Given the description of an element on the screen output the (x, y) to click on. 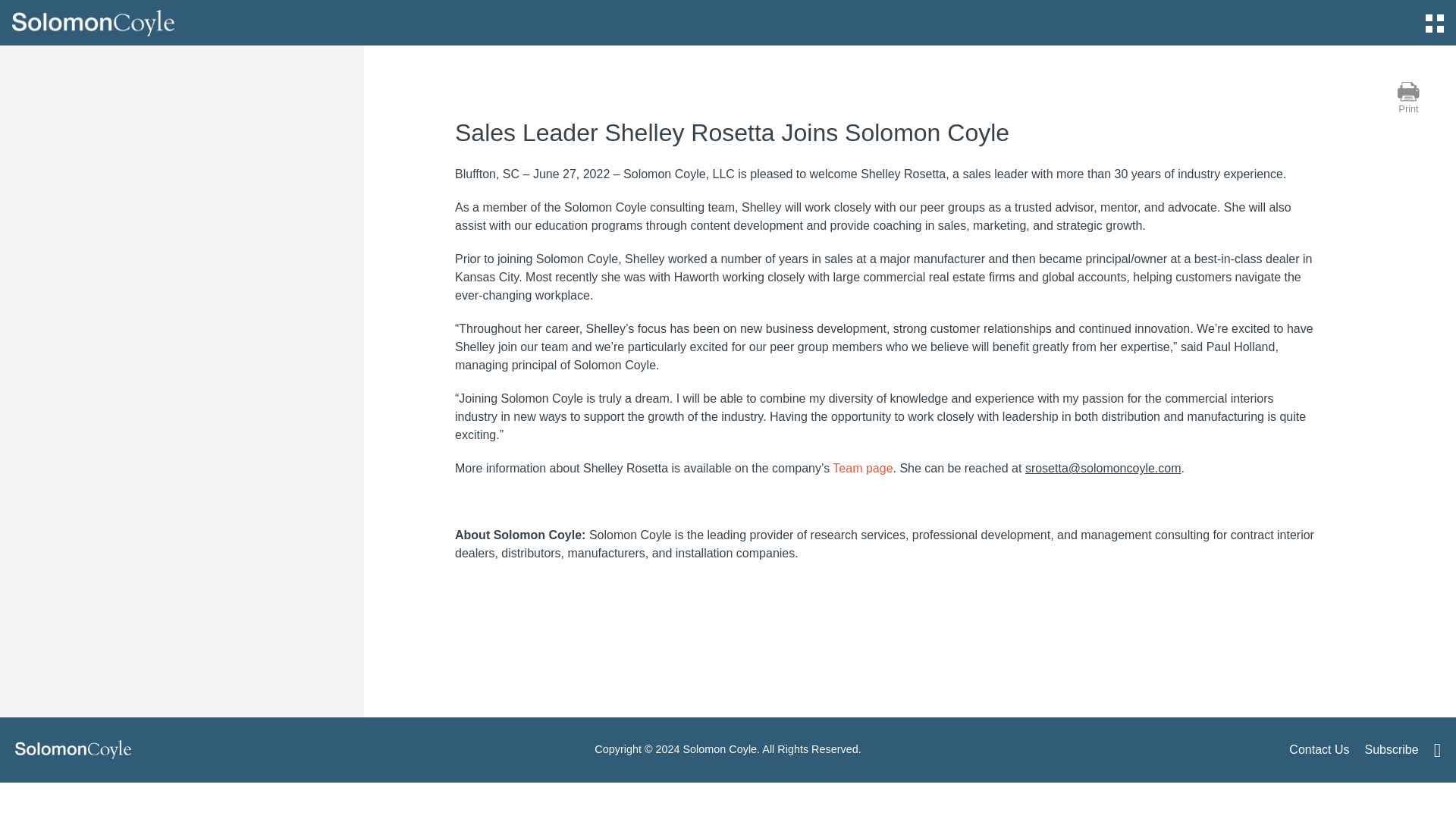
Subscribe (1391, 748)
Print (1408, 98)
Contact Us (1318, 748)
Team page (862, 468)
